Given the description of an element on the screen output the (x, y) to click on. 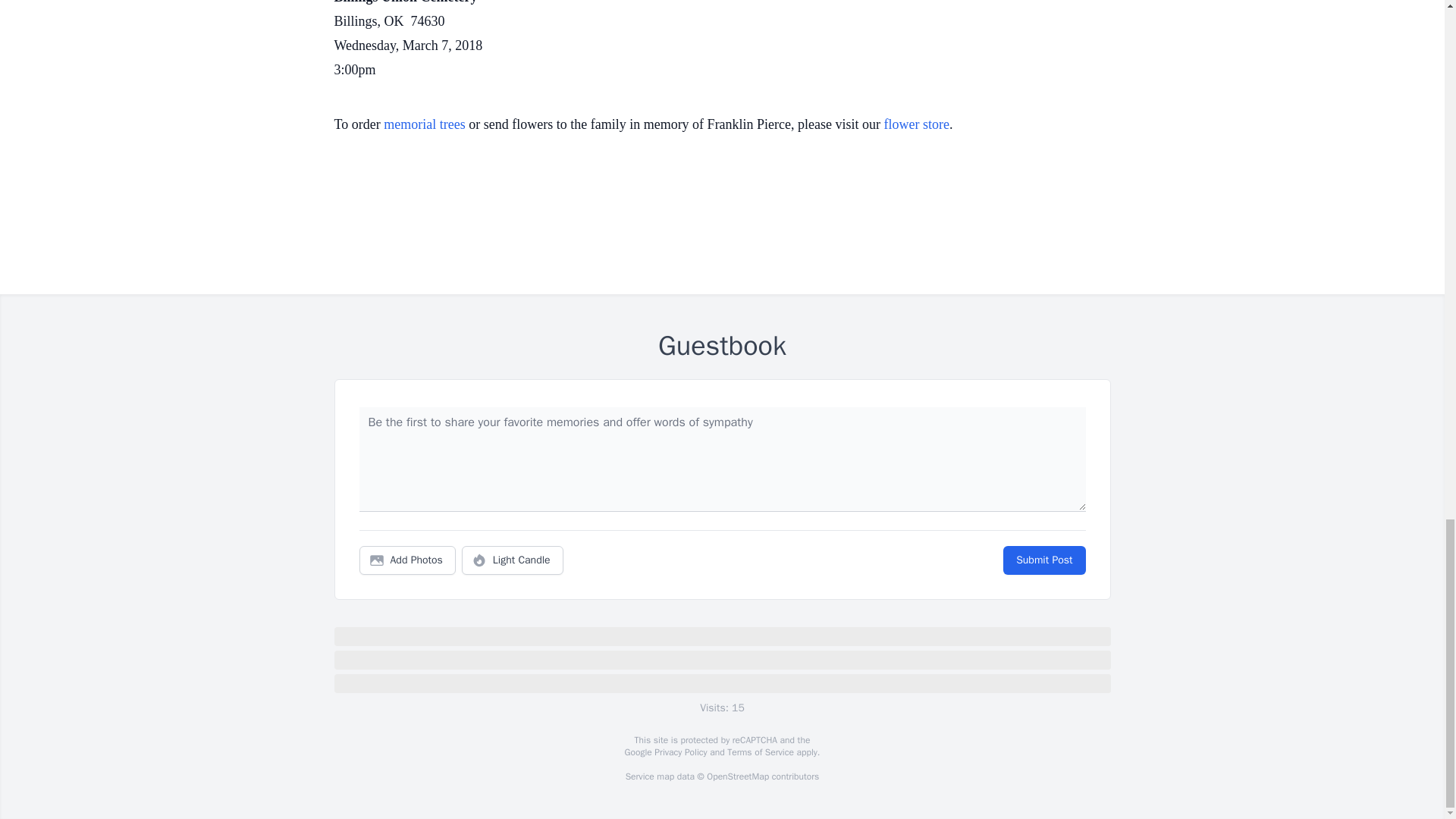
Submit Post (1043, 560)
flower store (916, 124)
Light Candle (512, 560)
Add Photos (407, 560)
Terms of Service (759, 752)
OpenStreetMap (737, 776)
Privacy Policy (679, 752)
memorial trees (424, 124)
